Given the description of an element on the screen output the (x, y) to click on. 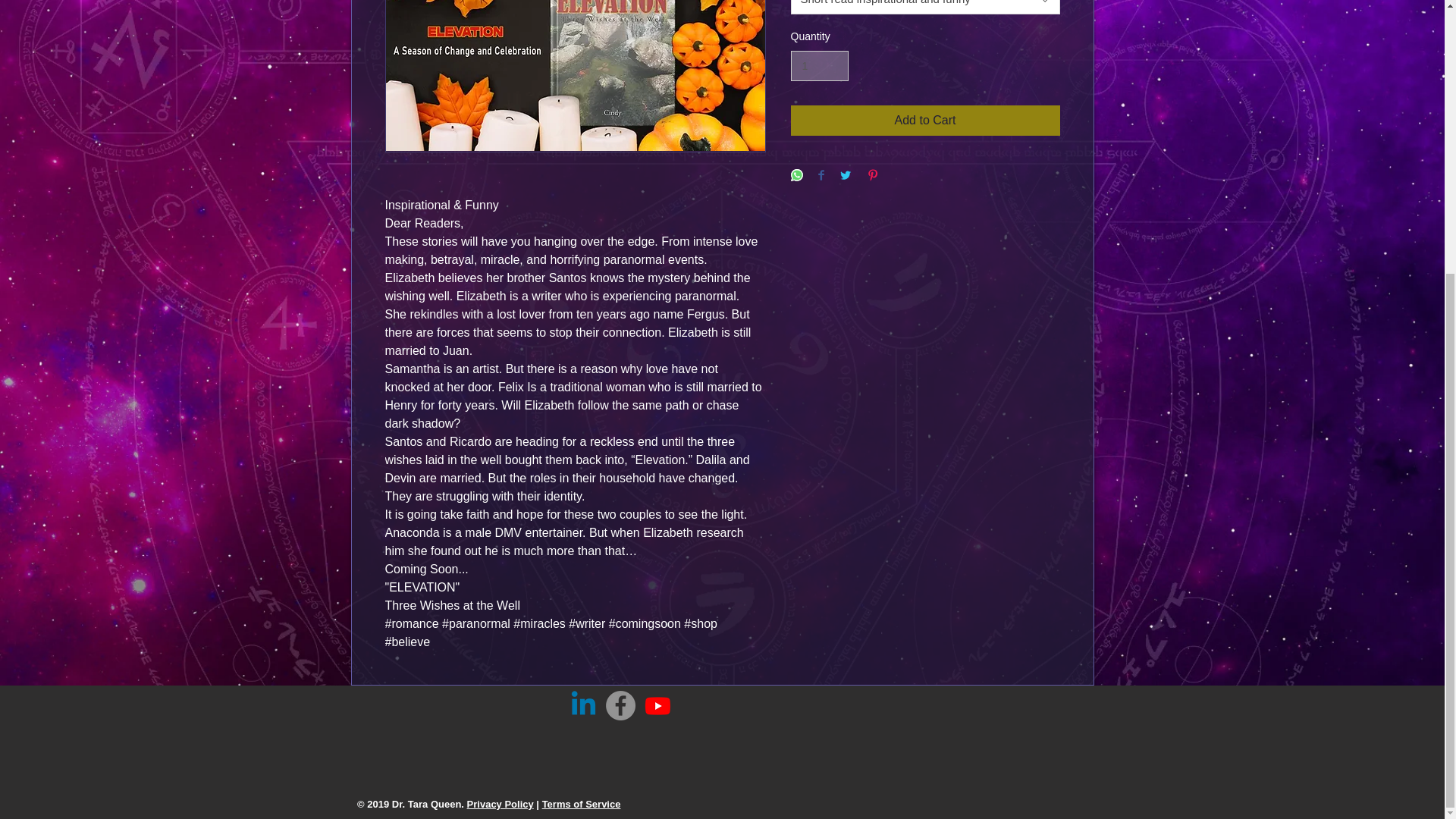
Privacy Policy (500, 803)
Terms of Service (581, 803)
Add to Cart (924, 120)
Short read inspirational and funny (924, 7)
1 (818, 65)
